Given the description of an element on the screen output the (x, y) to click on. 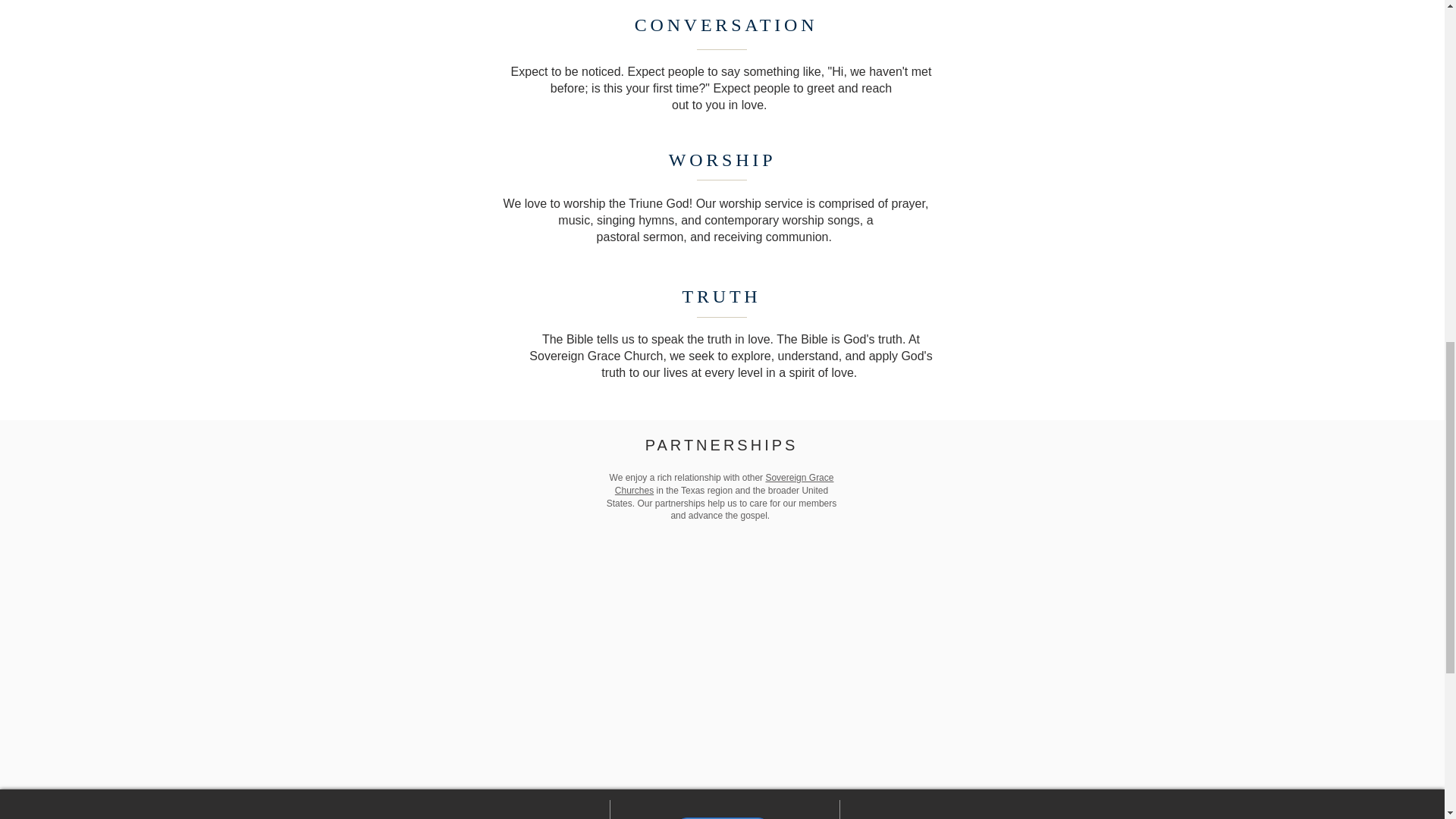
CONNECT (721, 818)
Sovereign Grace Churches (724, 484)
External Vimeo (714, 662)
